Given the description of an element on the screen output the (x, y) to click on. 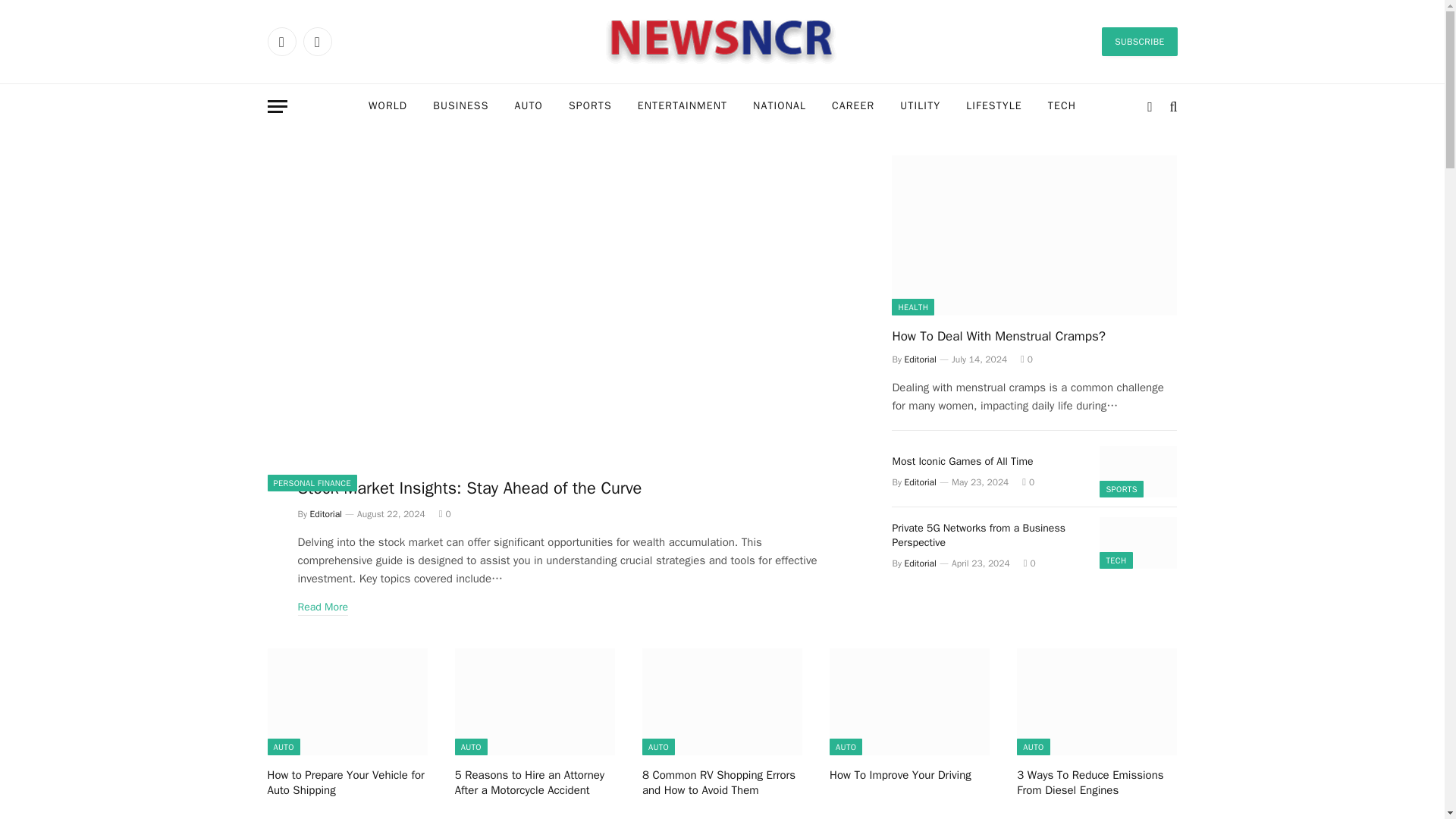
TECH (1062, 106)
Posts by Editorial (920, 358)
BUSINESS (460, 106)
Switch to Dark Design - easier on eyes. (1149, 106)
SPORTS (590, 106)
Facebook (280, 41)
Posts by Editorial (326, 513)
UTILITY (919, 106)
NATIONAL (778, 106)
